Given the description of an element on the screen output the (x, y) to click on. 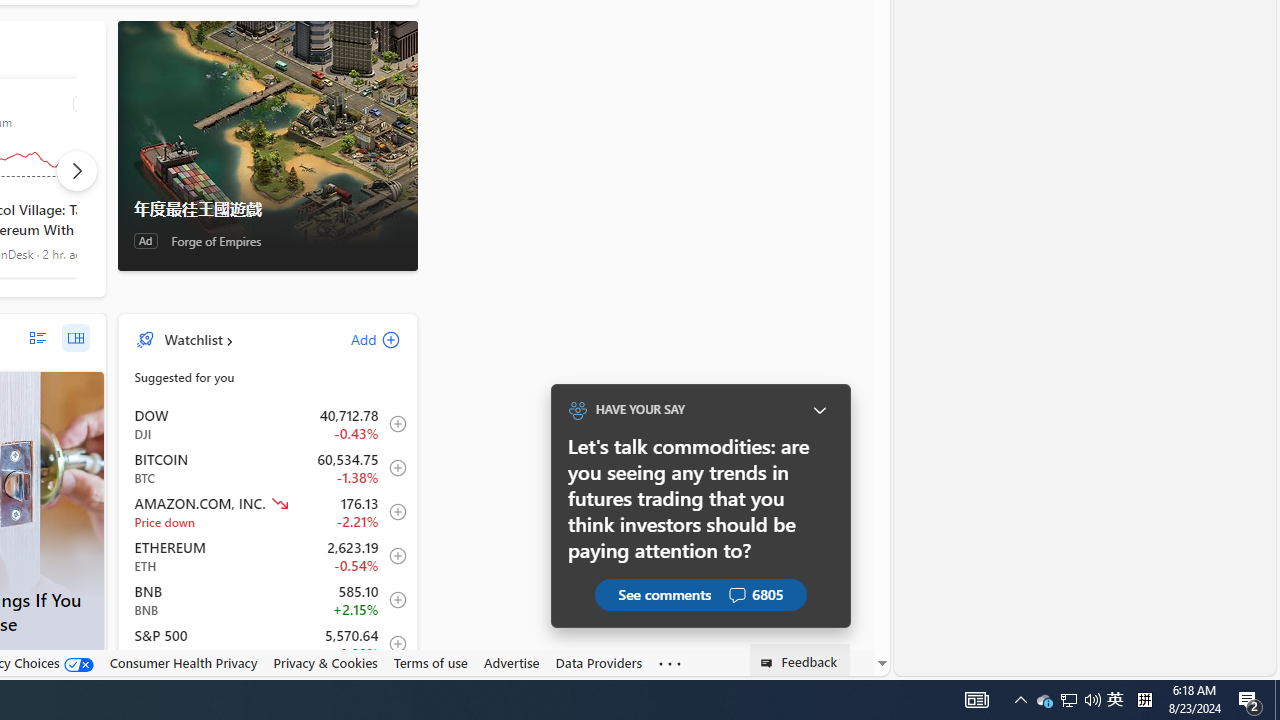
ETH Ethereum decrease 2,623.19 -14.14 -0.54% item3 (267, 556)
Data Providers (598, 663)
INX S&P 500 decrease 5,570.64 -50.21 -0.89% item5 (267, 644)
Add (358, 339)
Watchlist (192, 339)
list layout (37, 338)
Terms of use (430, 663)
BNB BNB increase 585.10 +12.60 +2.15% item4 (267, 600)
DJI DOW decrease 40,712.78 -177.71 -0.43% item0 (267, 423)
AMZN AMAZON.COM, INC. decrease 176.13 -3.98 -2.21% item2 (267, 512)
